Given the description of an element on the screen output the (x, y) to click on. 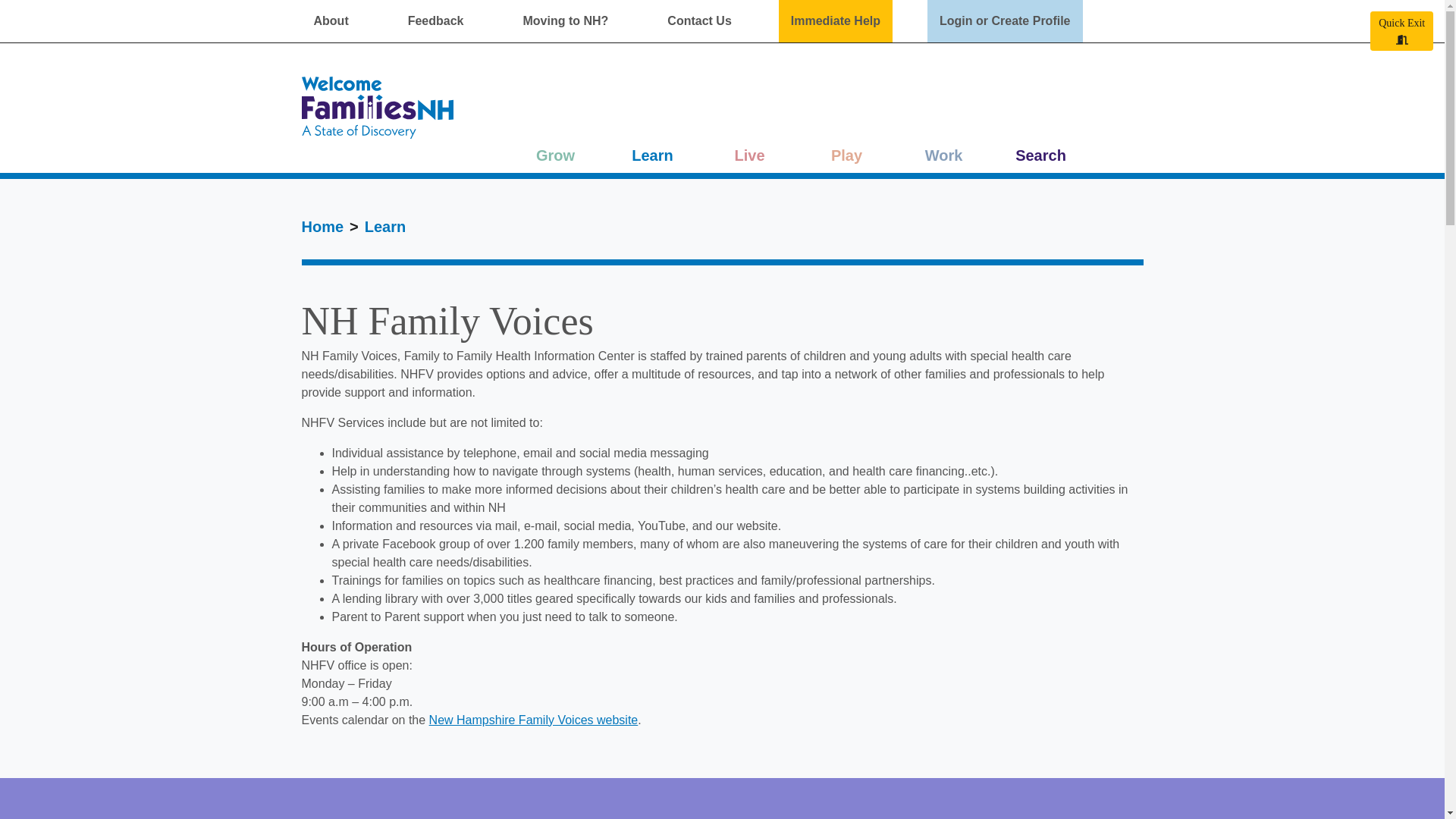
Feedback (436, 21)
Work (943, 121)
Welcome Families New Hampshire: State of Discovery (376, 107)
Live (748, 121)
Grow (555, 121)
Login or Create Profile (1004, 21)
Grow (555, 121)
Work (943, 121)
Quick Exit (1401, 30)
Search (1040, 121)
